Given the description of an element on the screen output the (x, y) to click on. 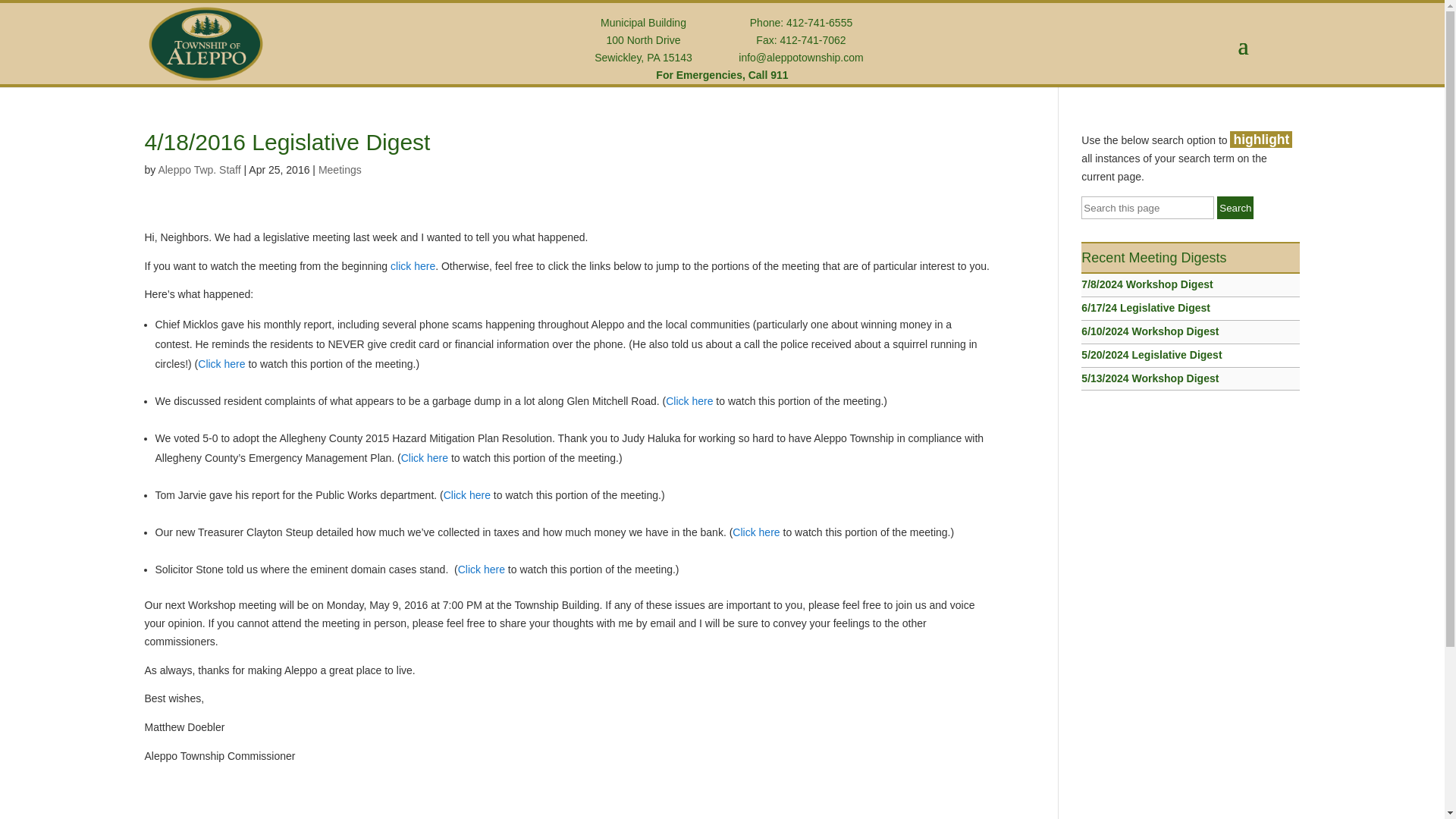
Meetings (339, 169)
Posts by Aleppo Twp. Staff (198, 169)
Click here (467, 494)
Search (1235, 207)
Click here (424, 458)
Click here (481, 569)
Click here (221, 363)
click here (412, 265)
Aleppo Twp. Staff (198, 169)
Click here (689, 400)
Click here (755, 532)
